Given the description of an element on the screen output the (x, y) to click on. 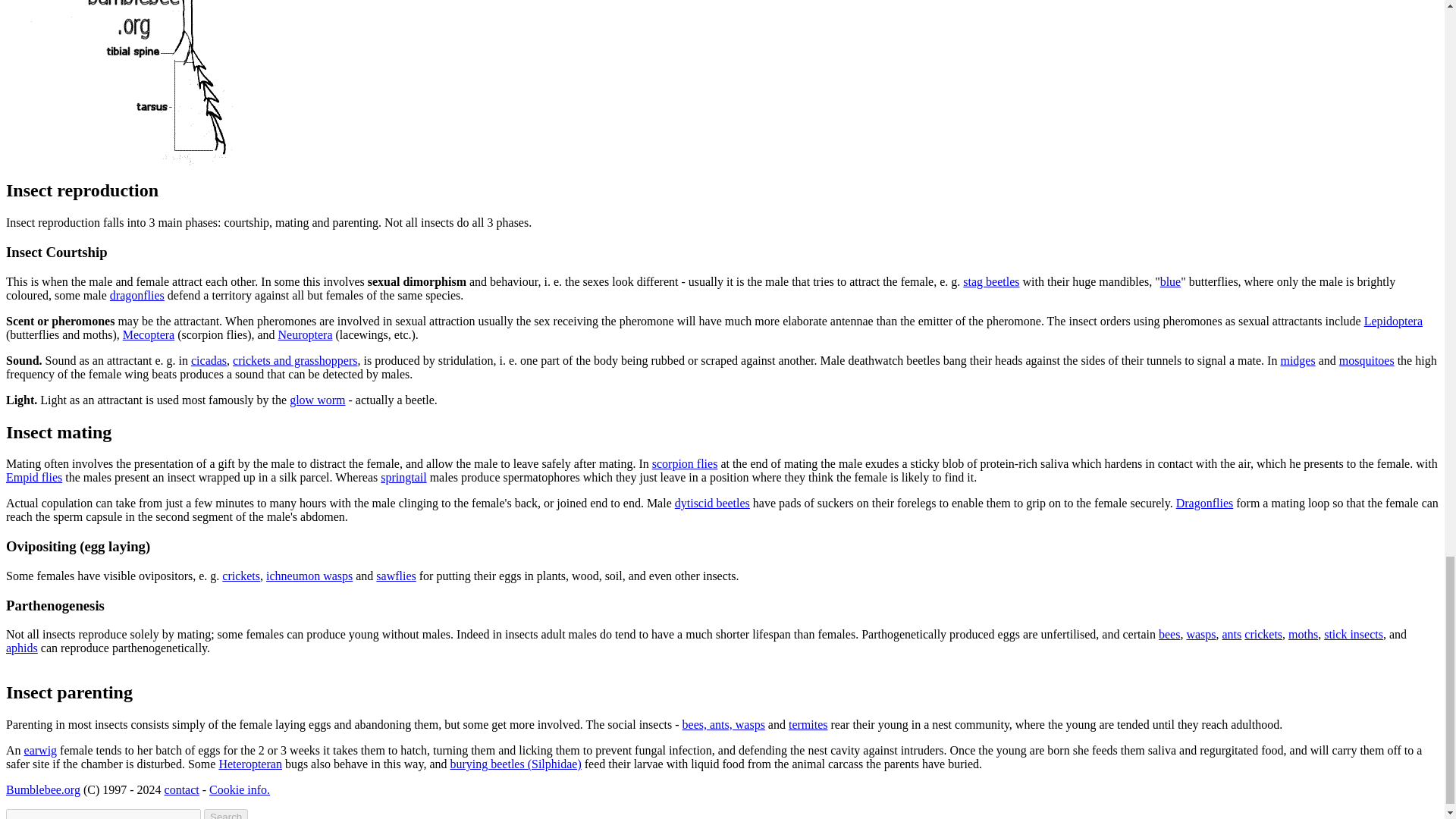
Neuroptera (305, 334)
cicadas (208, 359)
Mecoptera (148, 334)
dragonflies (137, 295)
Lepidoptera (1393, 320)
stag beetles (990, 281)
blue (1170, 281)
